Given the description of an element on the screen output the (x, y) to click on. 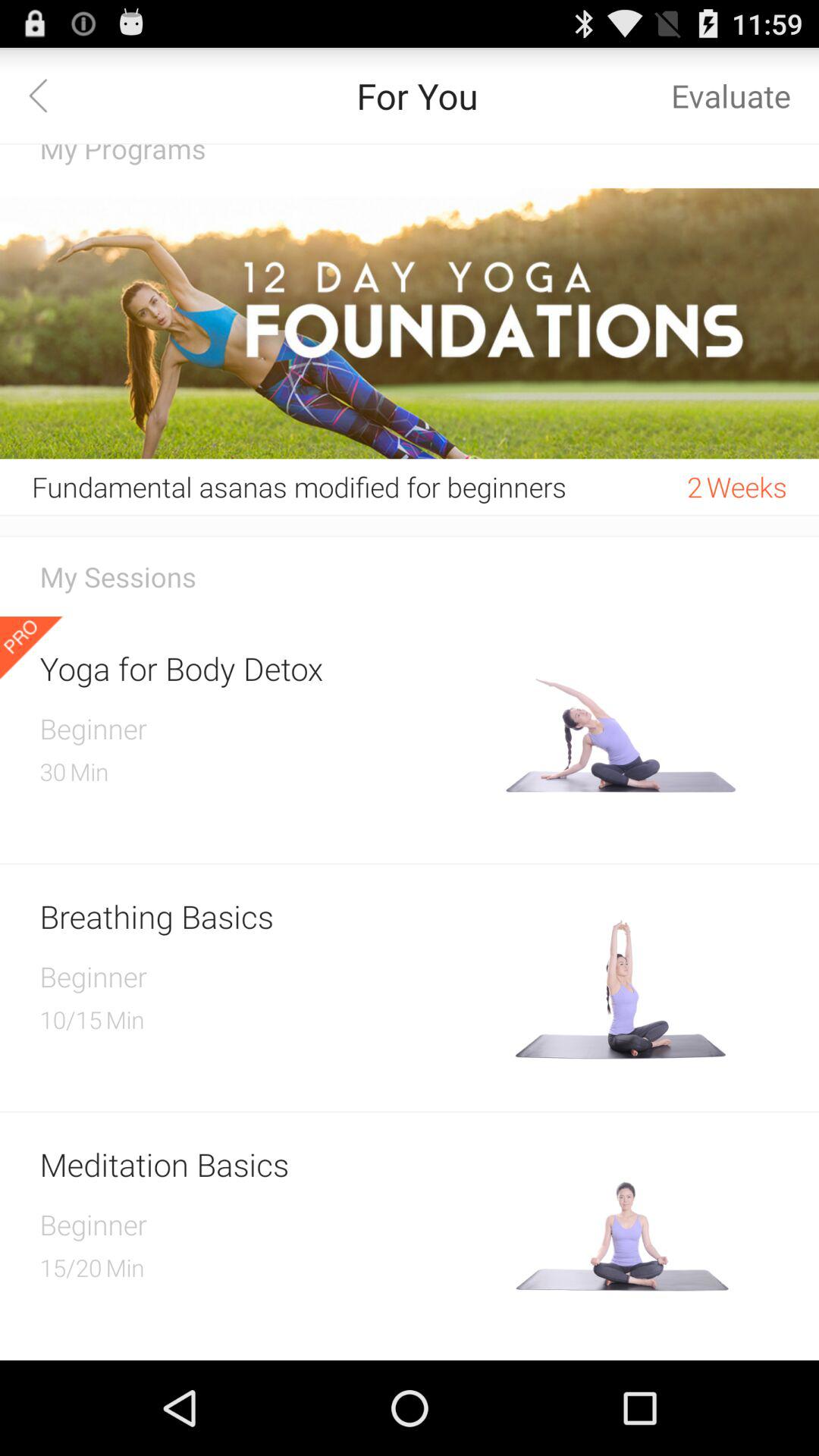
flip until my sessions icon (409, 576)
